Given the description of an element on the screen output the (x, y) to click on. 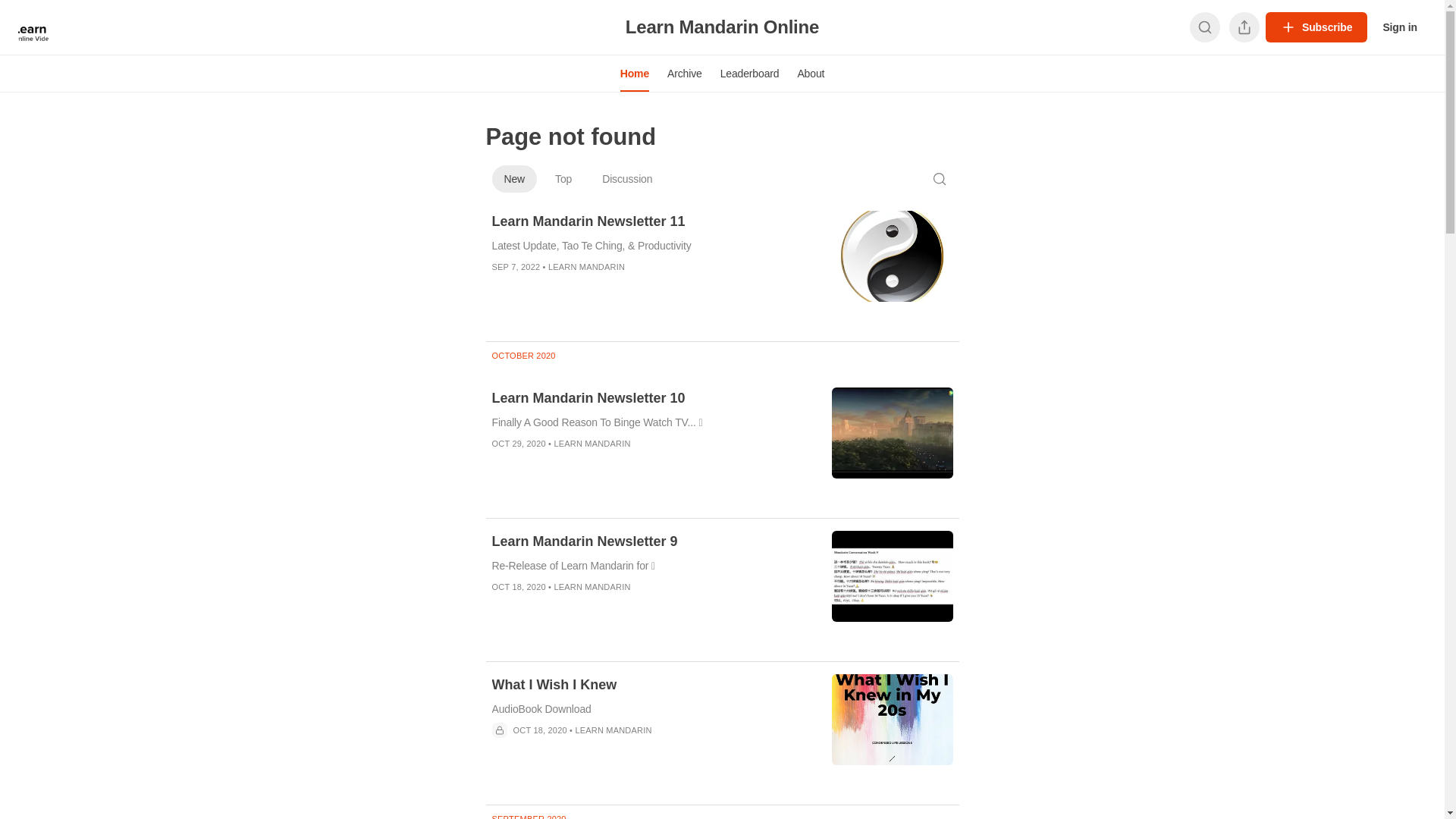
Archive Element type: text (684, 73)
AudioBook Download Element type: text (651, 708)
Learn Mandarin Newsletter 11 Element type: text (651, 221)
LEARN MANDARIN Element type: text (586, 266)
Subscribe Element type: text (1316, 27)
LEARN MANDARIN Element type: text (612, 729)
LEARN MANDARIN Element type: text (591, 586)
Latest Update, Tao Te Ching, & Productivity Element type: text (651, 245)
About Element type: text (810, 73)
Sign in Element type: text (1399, 27)
Learn Mandarin Newsletter 9 Element type: text (651, 541)
Learn Mandarin Online Element type: text (722, 26)
Leaderboard Element type: text (749, 73)
LEARN MANDARIN Element type: text (591, 443)
Learn Mandarin Newsletter 10 Element type: text (651, 397)
What I Wish I Knew Element type: text (651, 684)
Home Element type: text (634, 73)
